Given the description of an element on the screen output the (x, y) to click on. 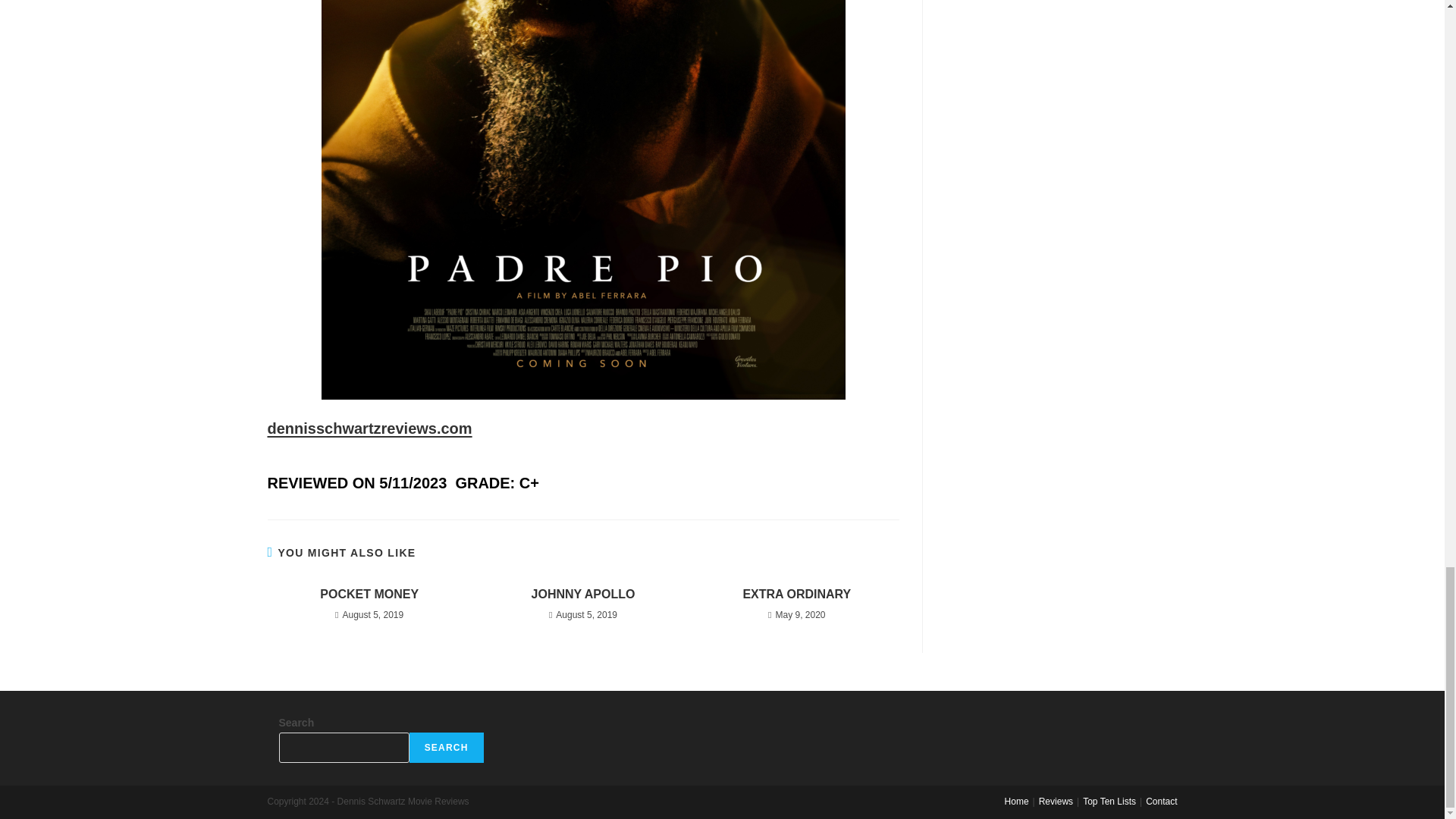
dennisschwartzreviews.com (368, 428)
SEARCH (446, 747)
POCKET MONEY (368, 594)
EXTRA ORDINARY (796, 594)
Top Ten Lists (1109, 801)
Reviews (1056, 801)
Contact (1160, 801)
JOHNNY APOLLO (582, 594)
Home (1016, 801)
